Given the description of an element on the screen output the (x, y) to click on. 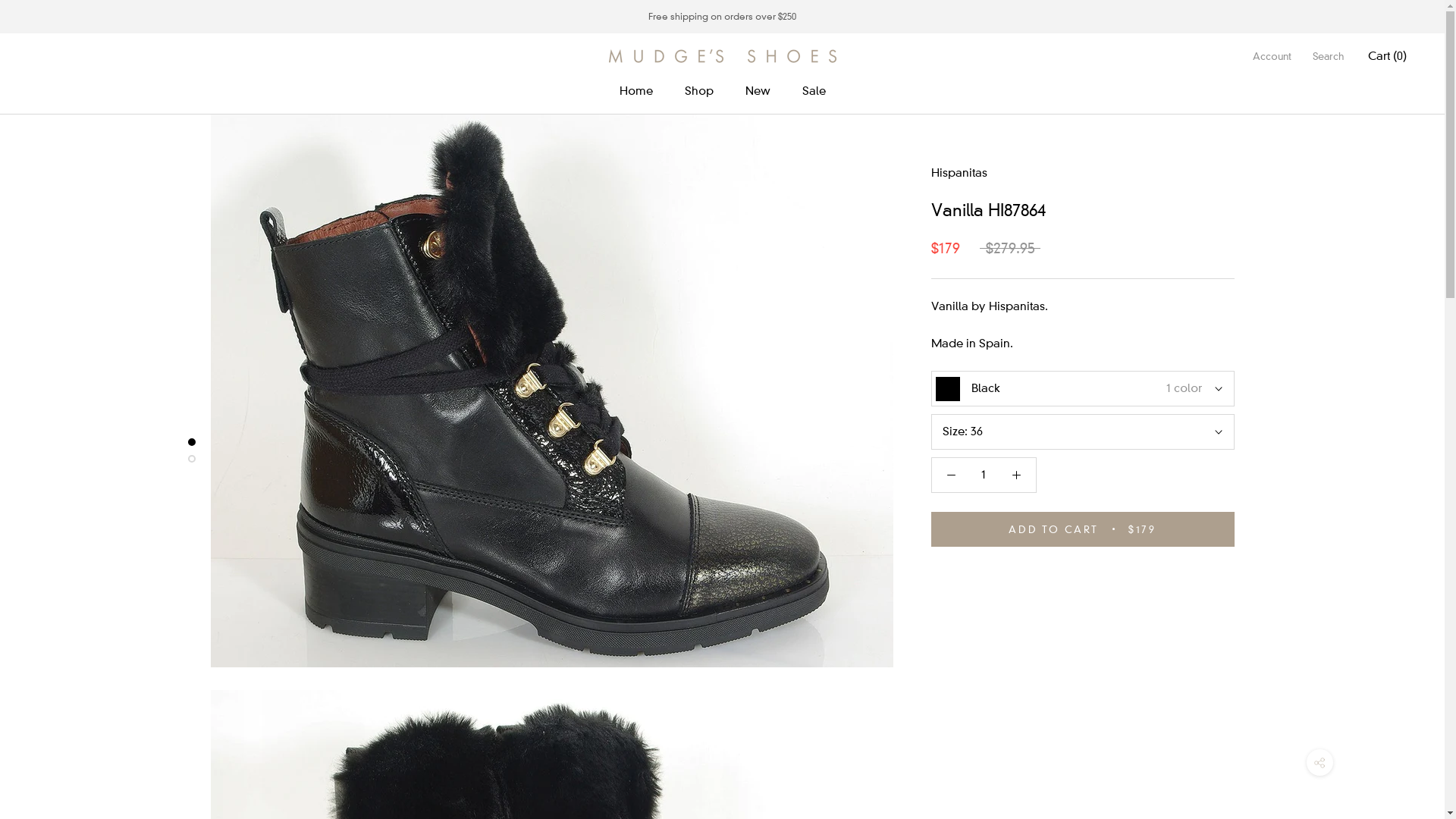
Black
1 color Element type: text (1082, 388)
New
New Element type: text (756, 90)
Search Element type: text (1327, 56)
ADD TO CART
$179 Element type: text (1082, 528)
Size: 36 Element type: text (1082, 431)
Home
Home Element type: text (635, 90)
Shop
Shop Element type: text (698, 90)
Hispanitas Element type: text (959, 172)
Sale
Sale Element type: text (813, 90)
Account Element type: text (1271, 56)
Cart (0) Element type: text (1387, 55)
